Given the description of an element on the screen output the (x, y) to click on. 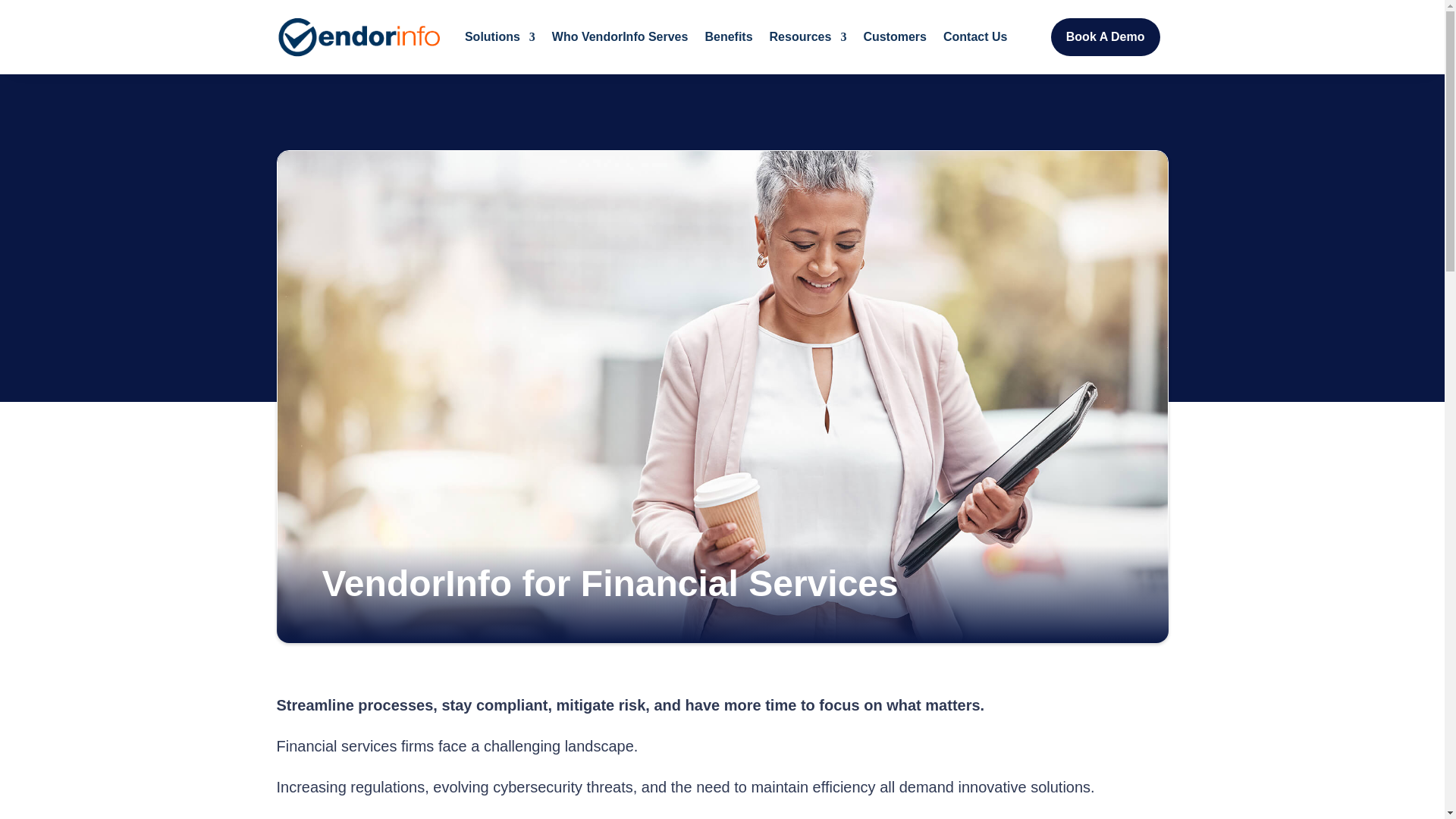
Contact Us (975, 37)
Who VendorInfo Serves (619, 37)
Customers (894, 37)
Book A Demo (1105, 37)
Resources (808, 37)
Solutions (499, 37)
